Given the description of an element on the screen output the (x, y) to click on. 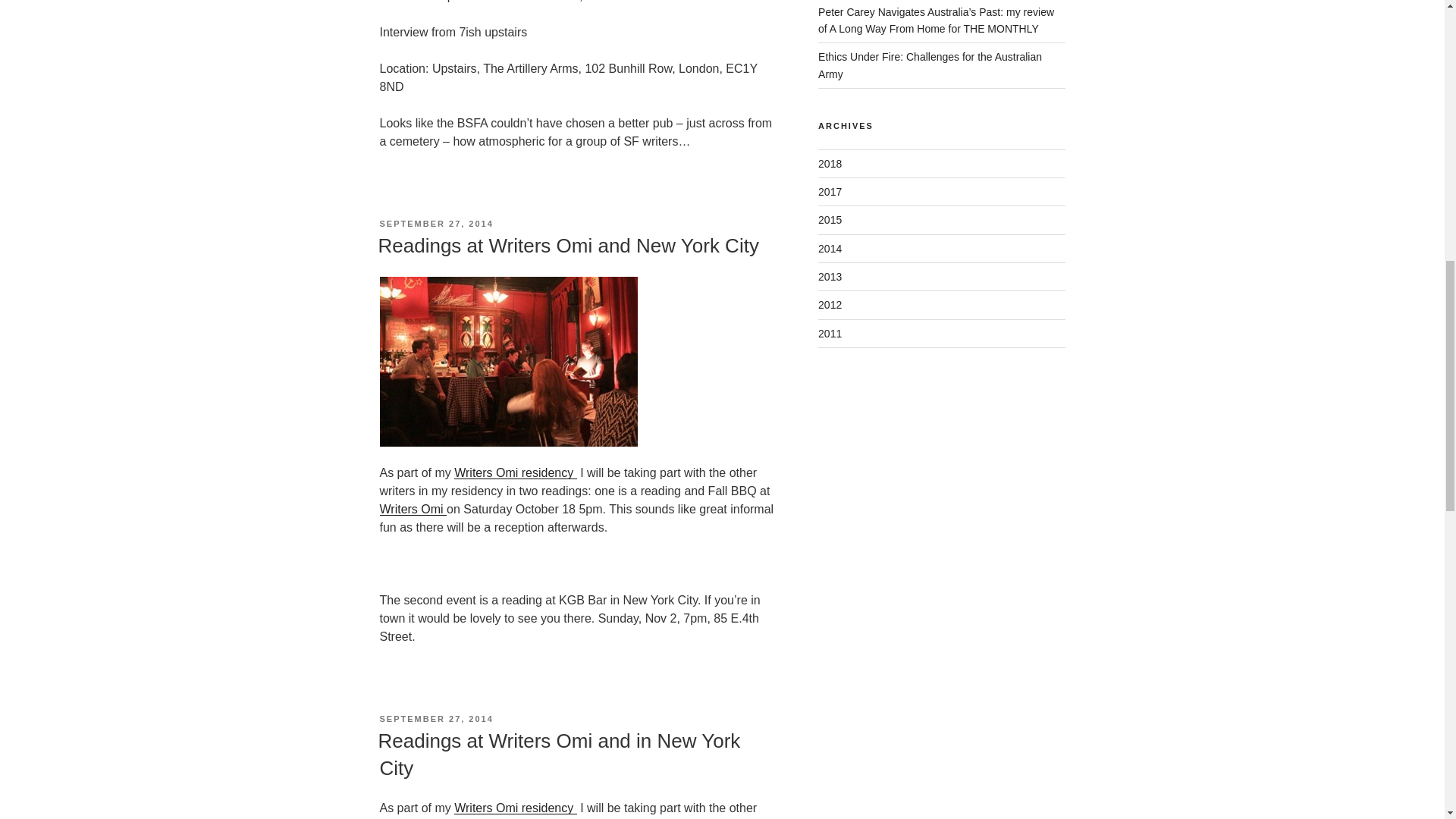
Writers Omi (412, 508)
SEPTEMBER 27, 2014 (435, 223)
Writers Omi residency  (515, 807)
Readings at Writers Omi and New York City (567, 245)
Readings at Writers Omi and in New York City (558, 754)
Writers Omi residency  (515, 472)
SEPTEMBER 27, 2014 (435, 718)
